Given the description of an element on the screen output the (x, y) to click on. 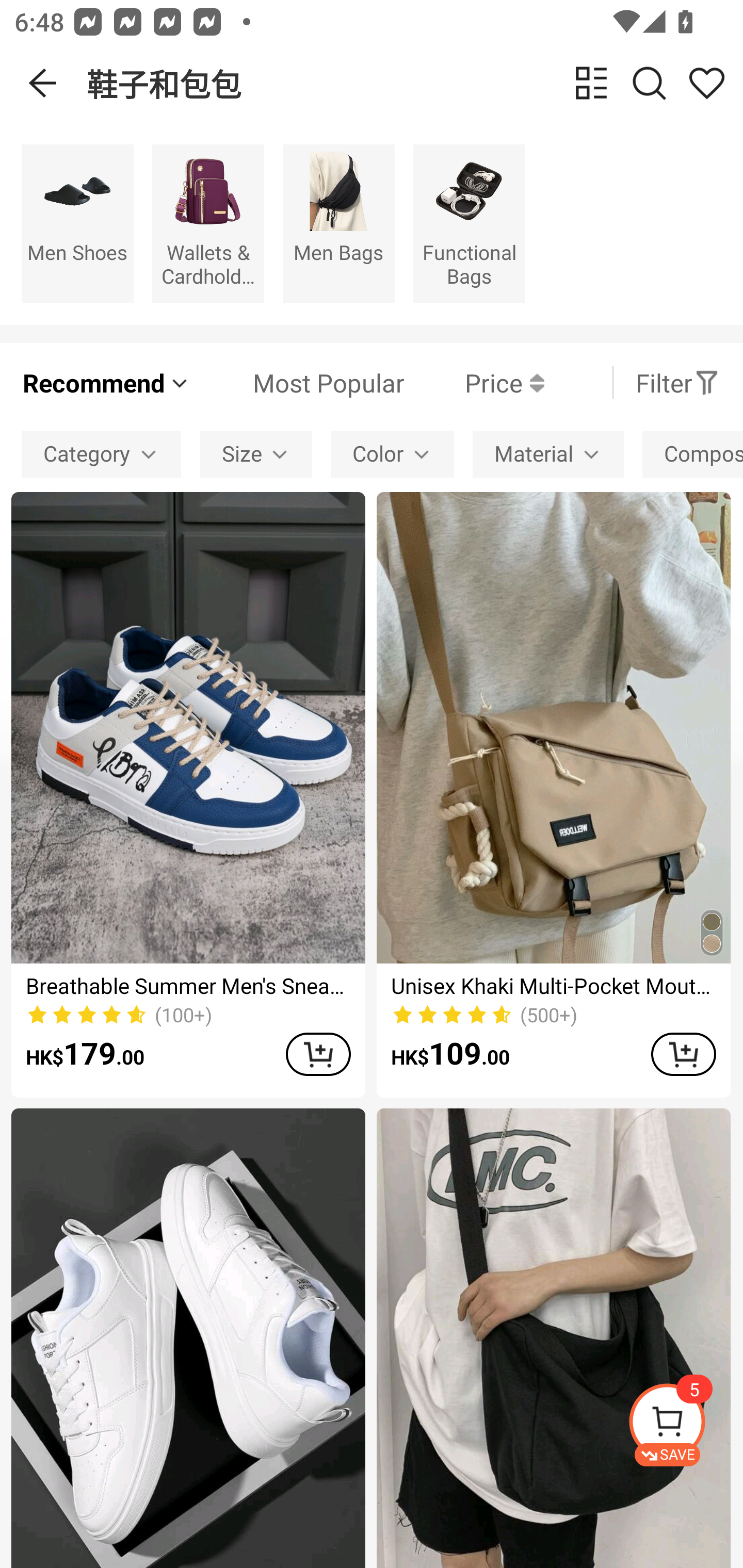
鞋子和包包 change view Search Share (414, 82)
change view (591, 82)
Search (648, 82)
Share (706, 82)
Men Shoes (77, 223)
Wallets & Cardholders (208, 223)
Men Bags (338, 223)
Functional Bags (469, 223)
Recommend (106, 382)
Most Popular (297, 382)
Price (474, 382)
Filter (677, 382)
Category (101, 454)
Size (255, 454)
Color (391, 454)
Material (548, 454)
Composition (692, 454)
ADD TO CART (318, 1054)
ADD TO CART (683, 1054)
Men Letter Graphic Lace-up Front Skate Shoes (188, 1338)
SAVE (685, 1424)
